Given the description of an element on the screen output the (x, y) to click on. 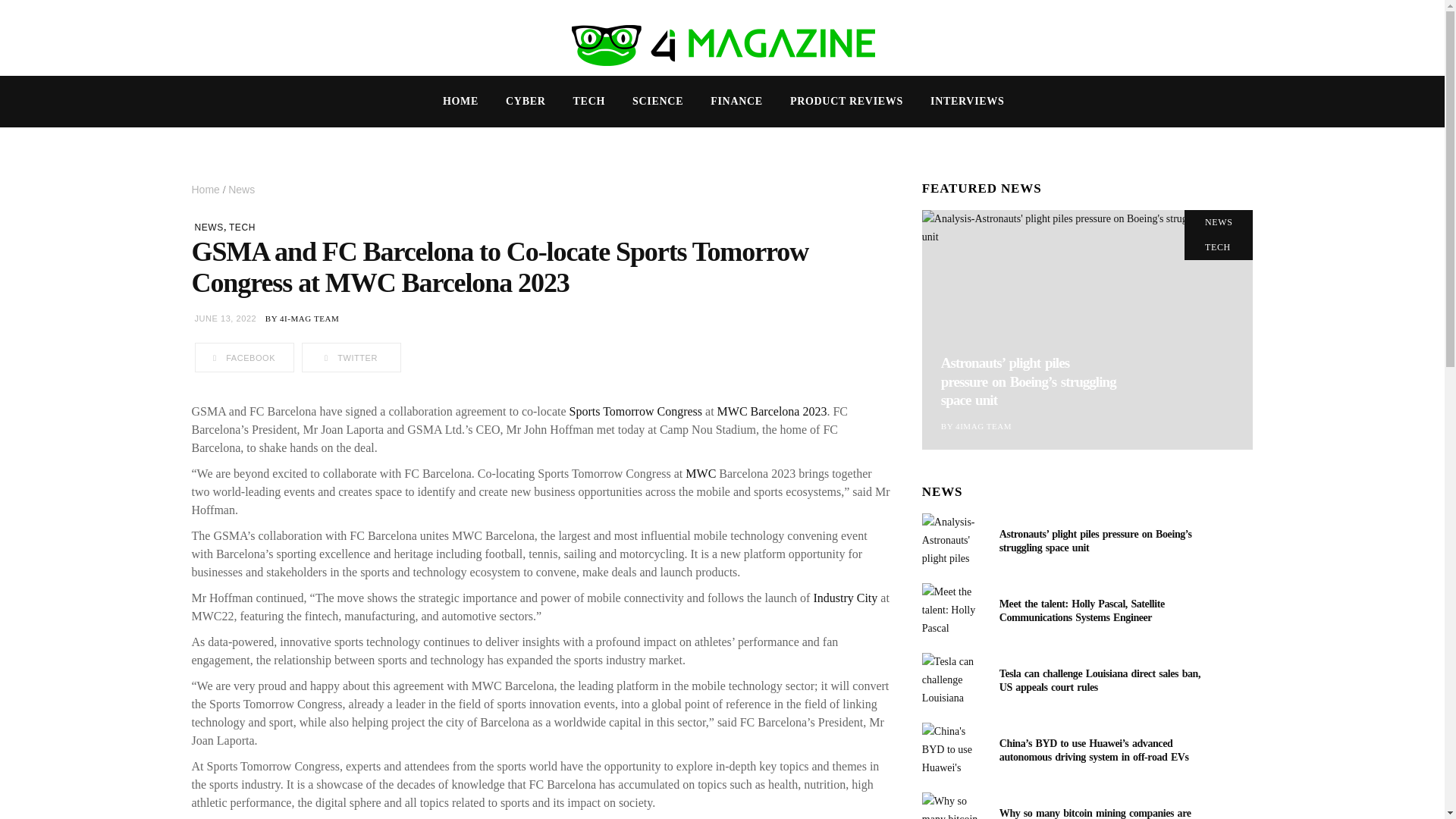
JUNE 13, 2022 (224, 317)
INTERVIEWS (967, 101)
PRODUCT REVIEWS (846, 101)
CYBER (525, 101)
TECH (588, 101)
Why so many bitcoin mining companies are turning to AI (952, 805)
SCIENCE (657, 101)
FINANCE (736, 101)
News (241, 189)
